Given the description of an element on the screen output the (x, y) to click on. 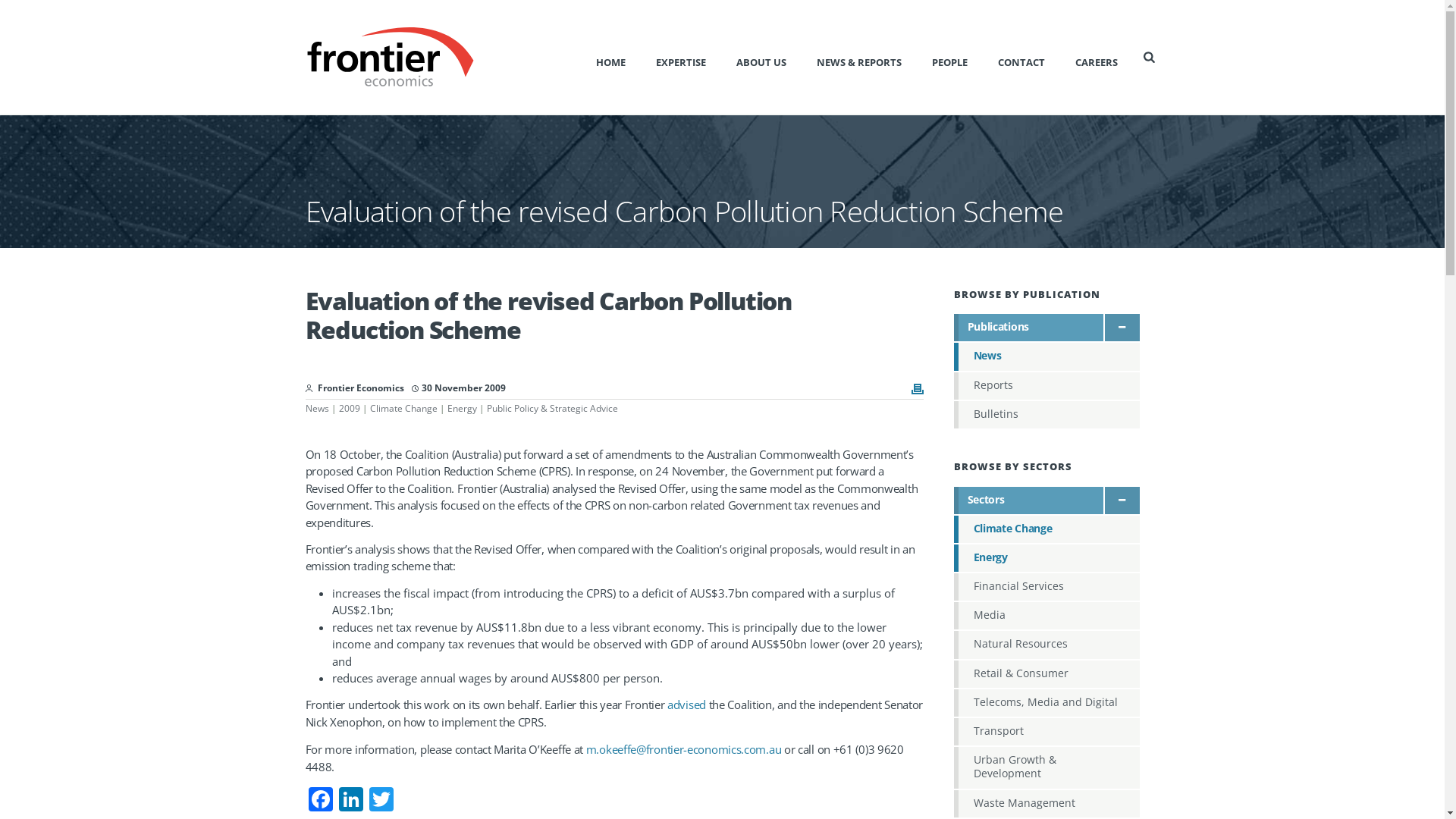
Financial Services Element type: text (1046, 586)
News Element type: text (316, 407)
CAREERS Element type: text (1096, 56)
Bulletins Element type: text (1046, 414)
Climate Change Element type: text (1046, 528)
m.okeeffe@frontier-economics.com.au Element type: text (683, 748)
Reports Element type: text (1046, 385)
LinkedIn Element type: text (350, 800)
PEOPLE Element type: text (949, 56)
Print Element type: hover (917, 390)
EXPERTISE Element type: text (680, 56)
Energy Element type: text (1046, 557)
Retail & Consumer Element type: text (1046, 673)
Transport Element type: text (1046, 731)
2009 Element type: text (348, 407)
Public Policy & Strategic Advice Element type: text (552, 407)
Sectors Element type: text (1046, 500)
30 November 2009 Element type: text (458, 387)
Climate Change Element type: text (403, 407)
Submit Element type: text (32, 8)
Waste Management Element type: text (1046, 803)
NEWS & REPORTS Element type: text (858, 56)
Publications Element type: text (1046, 327)
Facebook Element type: text (319, 800)
Media Element type: text (1046, 615)
Telecoms, Media and Digital Element type: text (1046, 702)
Twitter Element type: text (380, 800)
Energy Element type: text (461, 407)
HOME Element type: text (610, 56)
CONTACT Element type: text (1021, 56)
News Element type: text (1046, 356)
advised Element type: text (686, 704)
Natural Resources Element type: text (1046, 644)
Frontier Economics Element type: text (360, 387)
ABOUT US Element type: text (761, 56)
Urban Growth & Development Element type: text (1046, 766)
